Given the description of an element on the screen output the (x, y) to click on. 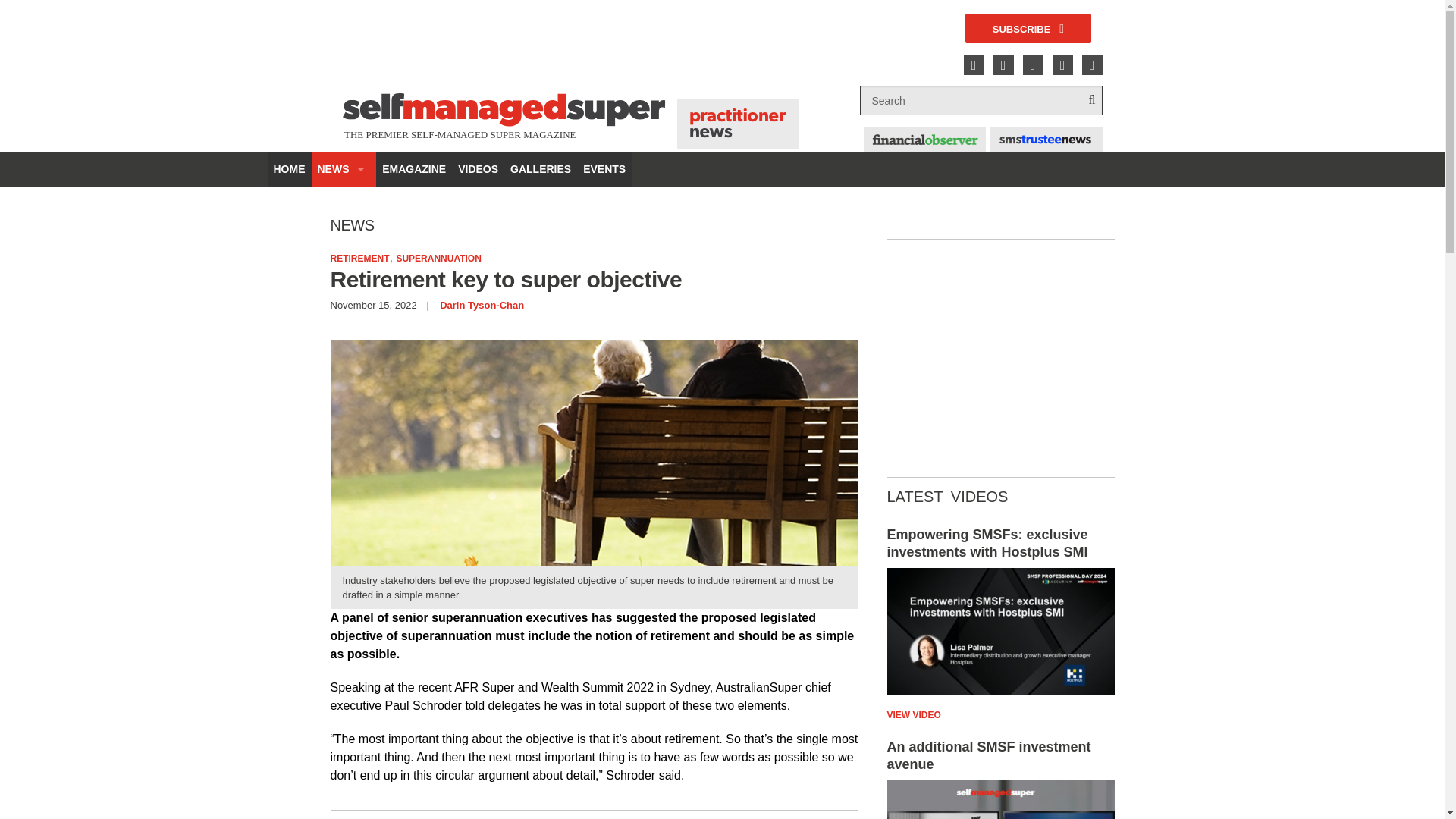
SUPERANNUATION (438, 258)
ACCOUNTING (343, 204)
SUPERANNUATION (343, 418)
3rd party ad content (618, 47)
GALLERIES (539, 169)
NEWS (343, 169)
MANAGEMENT (343, 347)
SUBSCRIBE (1027, 28)
Darin Tyson-Chan (481, 305)
EVENTS (603, 169)
VIDEOS (477, 169)
REGULATION (343, 383)
HOME (288, 169)
